Given the description of an element on the screen output the (x, y) to click on. 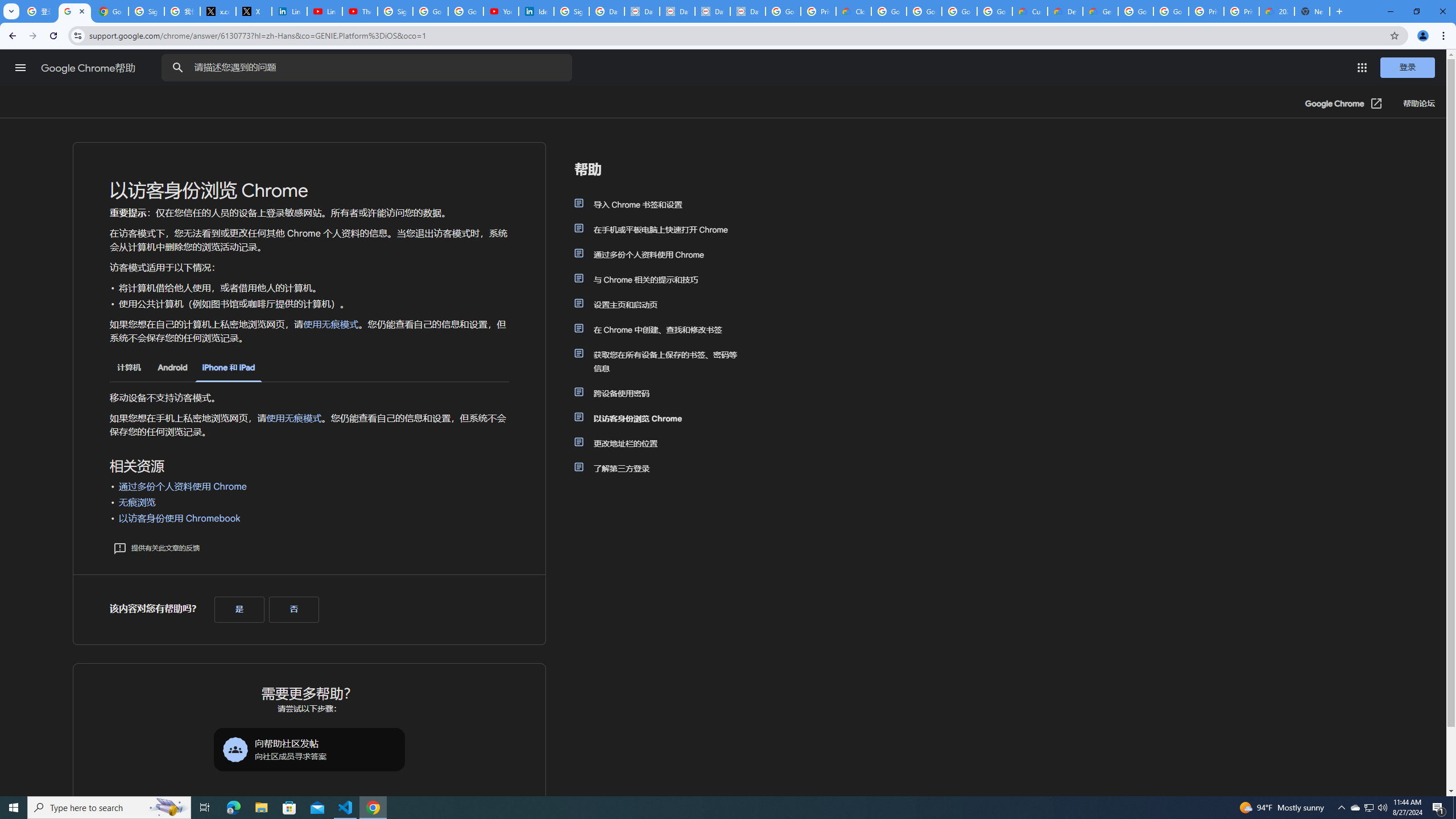
Data Privacy Framework (712, 11)
Data Privacy Framework (641, 11)
